Given the description of an element on the screen output the (x, y) to click on. 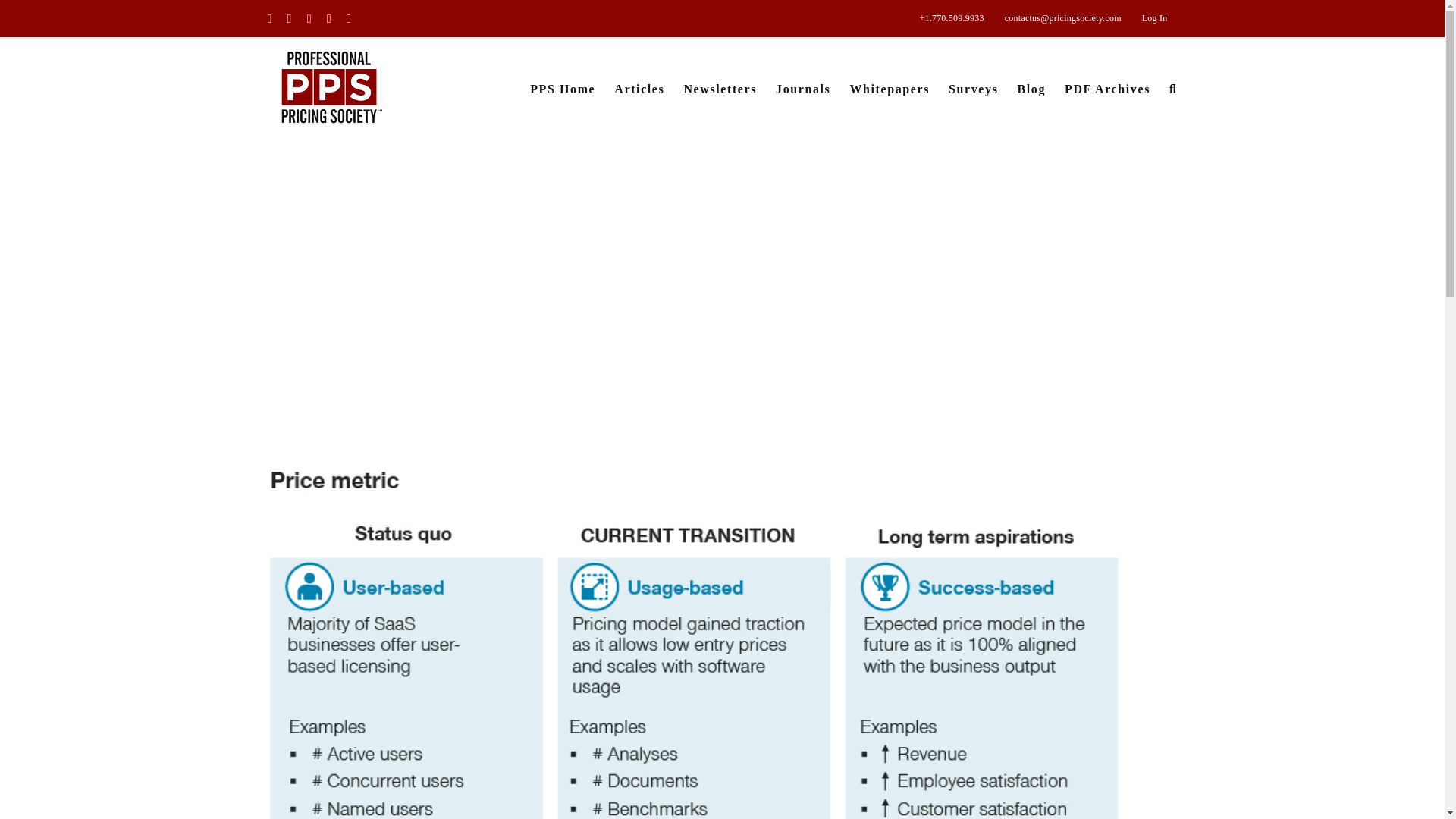
Log In (1154, 18)
